Given the description of an element on the screen output the (x, y) to click on. 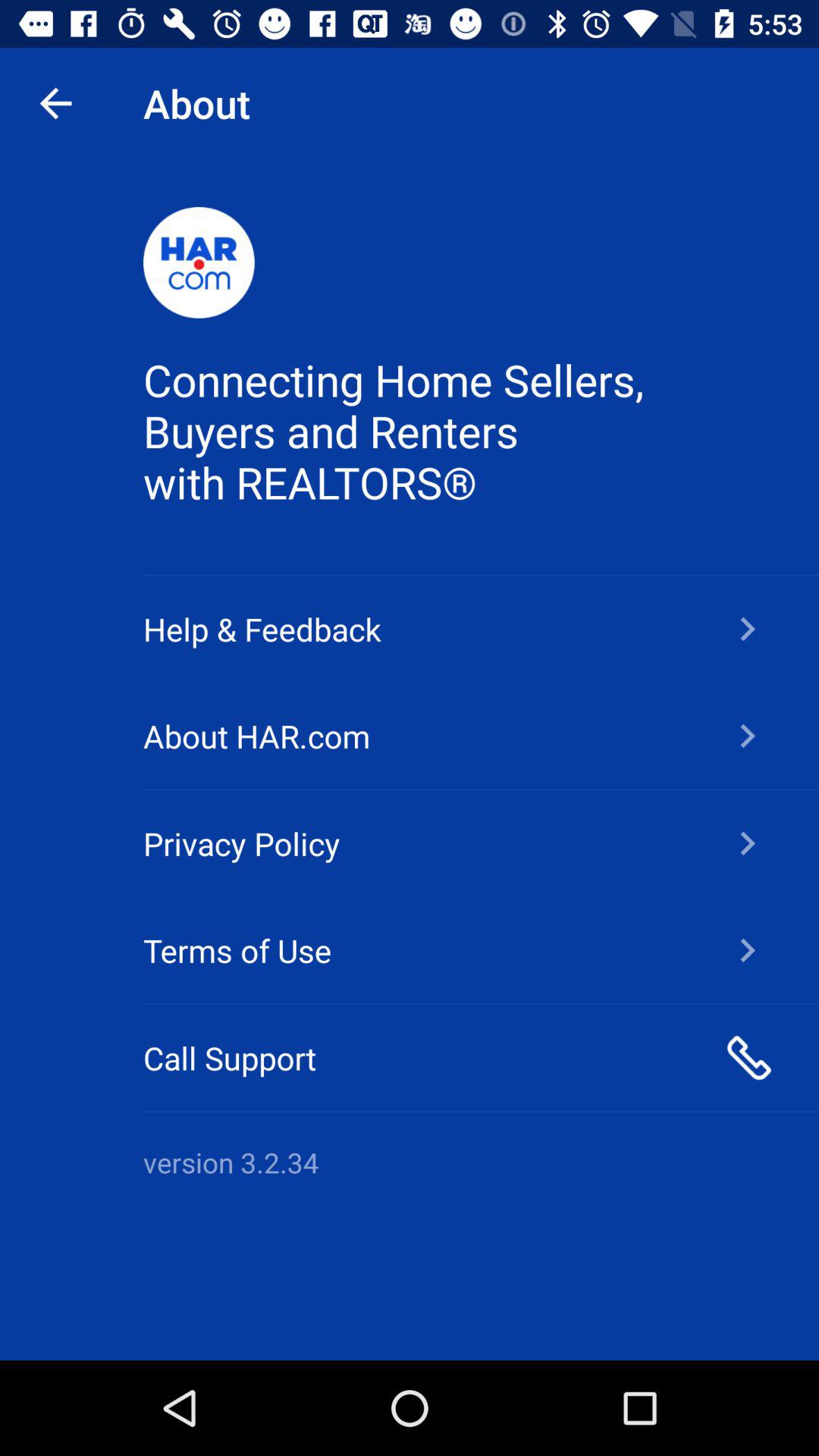
choose item to the left of the about item (55, 103)
